Given the description of an element on the screen output the (x, y) to click on. 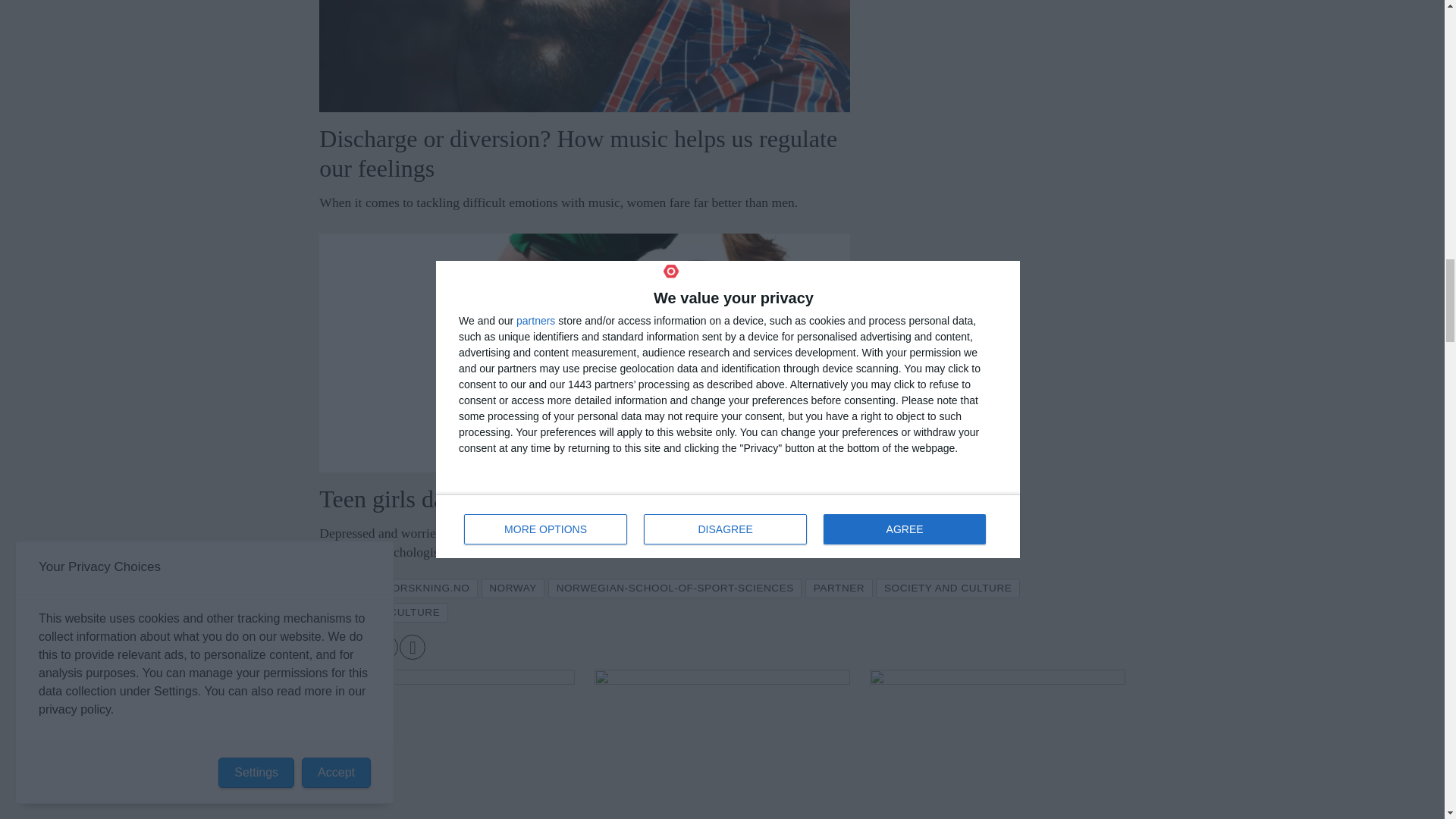
NORWEGIAN-SCHOOL-OF-SPORT-SCIENCES (675, 588)
NORWAY (512, 588)
Teen girls dance away the blues (584, 352)
SOCIETY AND CULTURE (948, 588)
Meat expert's top 5 barbecue tips (446, 744)
PARTNER (838, 588)
DANCE (345, 588)
FORSKNING.NO (427, 588)
